Given the description of an element on the screen output the (x, y) to click on. 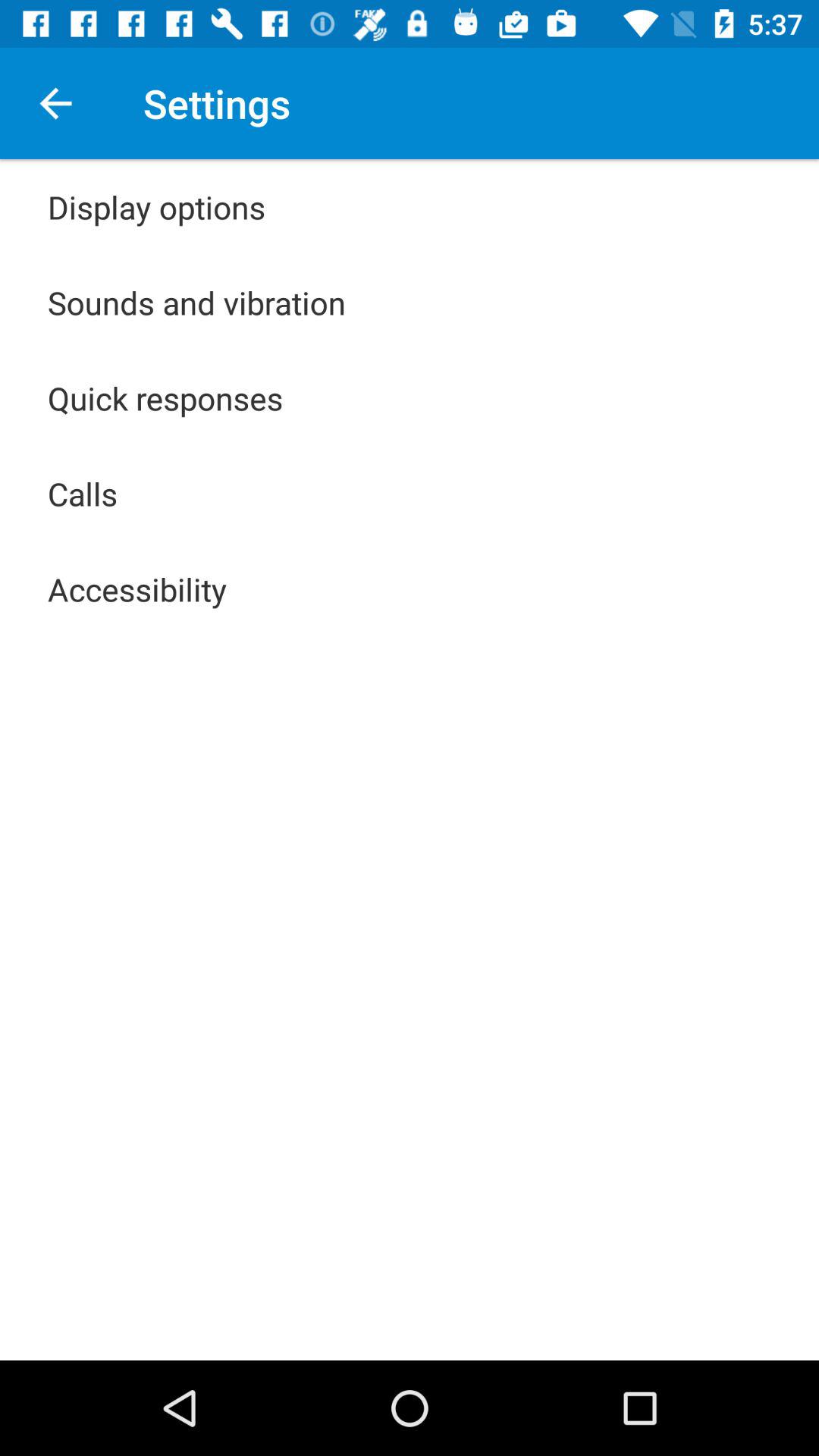
scroll until the display options item (156, 206)
